Given the description of an element on the screen output the (x, y) to click on. 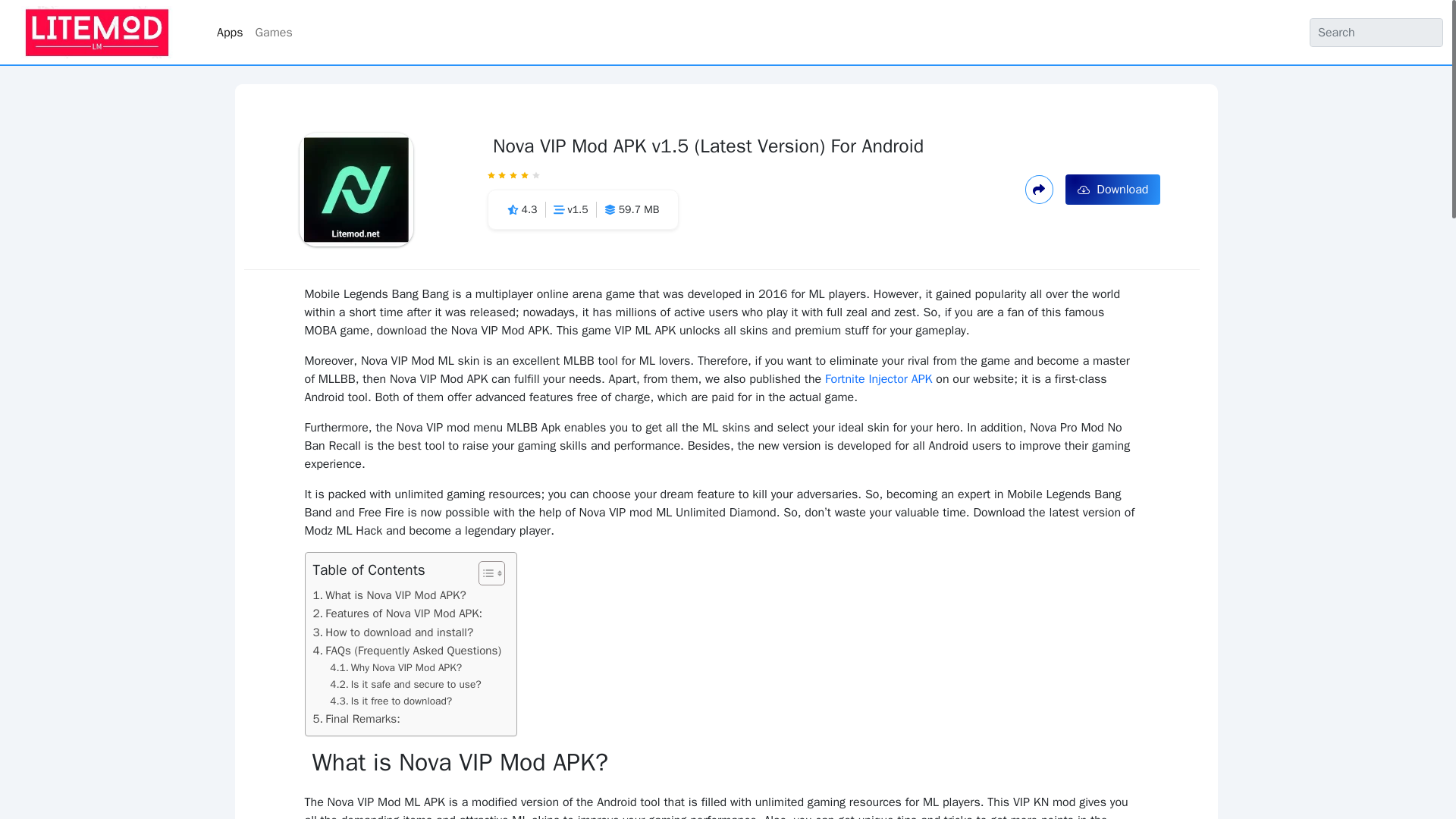
Features of Nova VIP Mod APK: (397, 613)
Is it safe and secure to use? (405, 684)
Final Remarks: (355, 719)
Final Remarks: (355, 719)
Is it free to download? (390, 701)
Fortnite Injector APK (879, 378)
Why Nova VIP Mod APK? (395, 668)
Is it free to download? (390, 701)
What is Nova VIP Mod APK? (389, 595)
What is Nova VIP Mod APK? (389, 595)
